Given the description of an element on the screen output the (x, y) to click on. 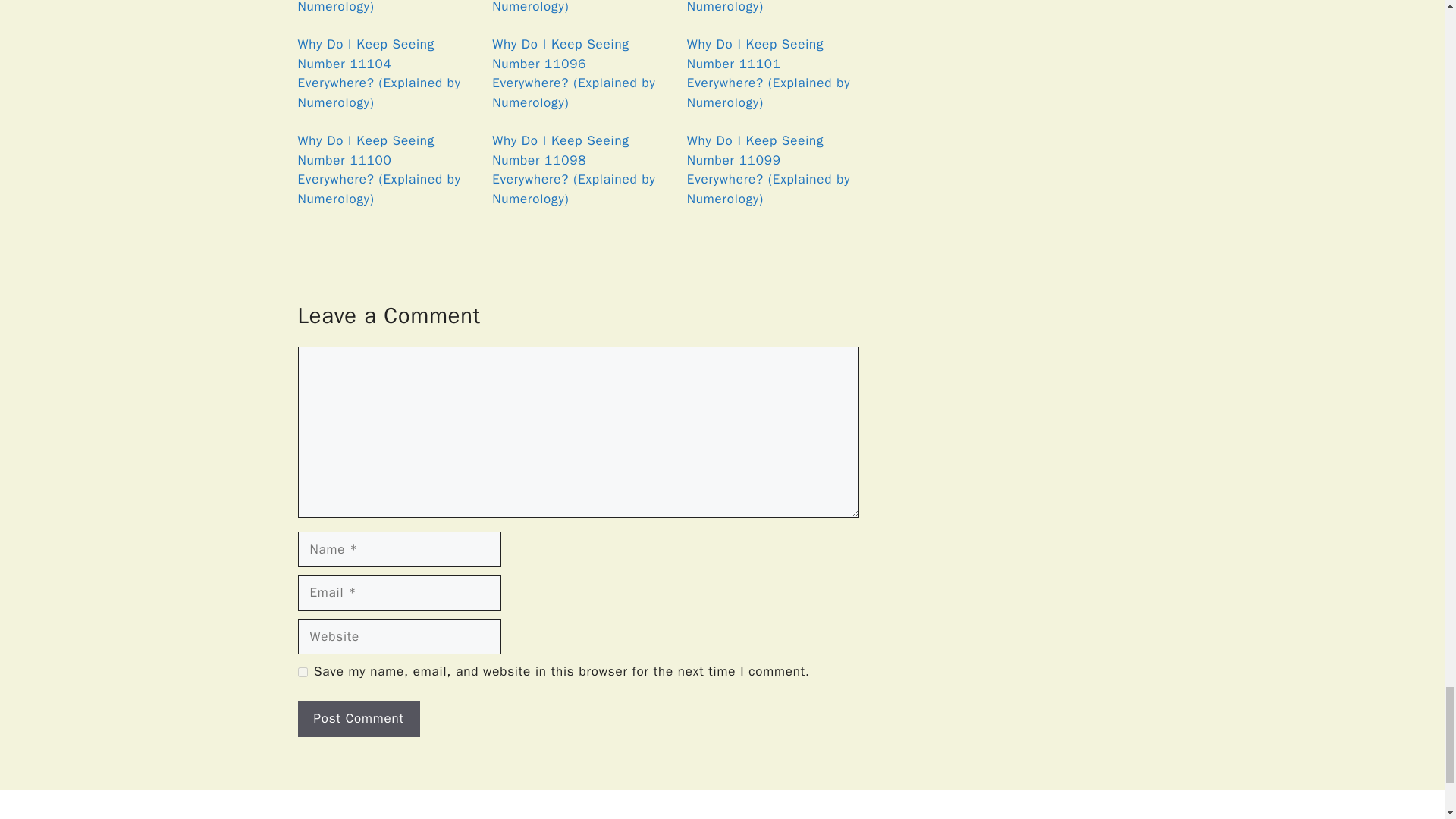
Post Comment (358, 719)
yes (302, 672)
